Given the description of an element on the screen output the (x, y) to click on. 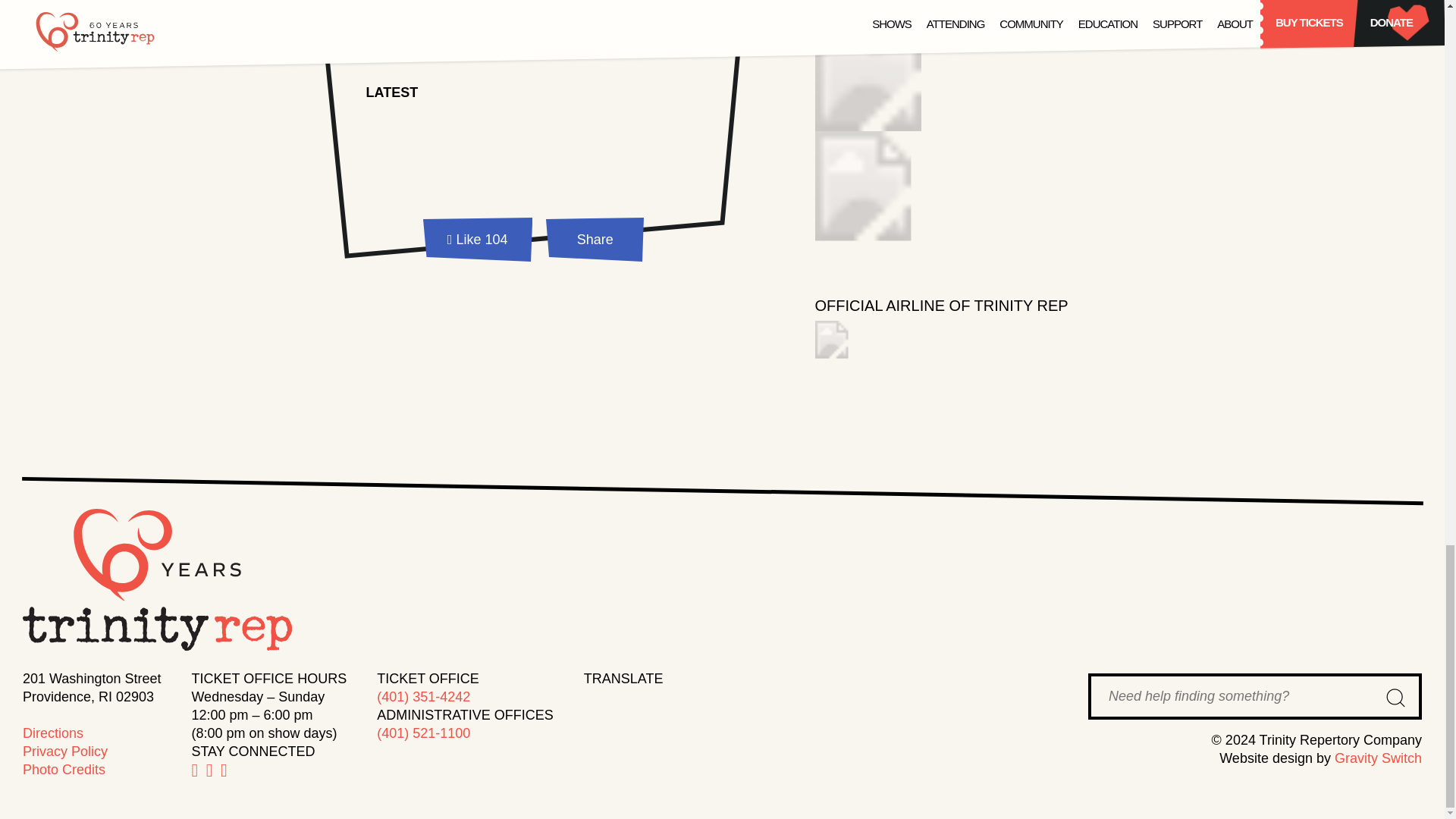
GO (1395, 697)
GO (1395, 697)
Like 104 (477, 241)
